Given the description of an element on the screen output the (x, y) to click on. 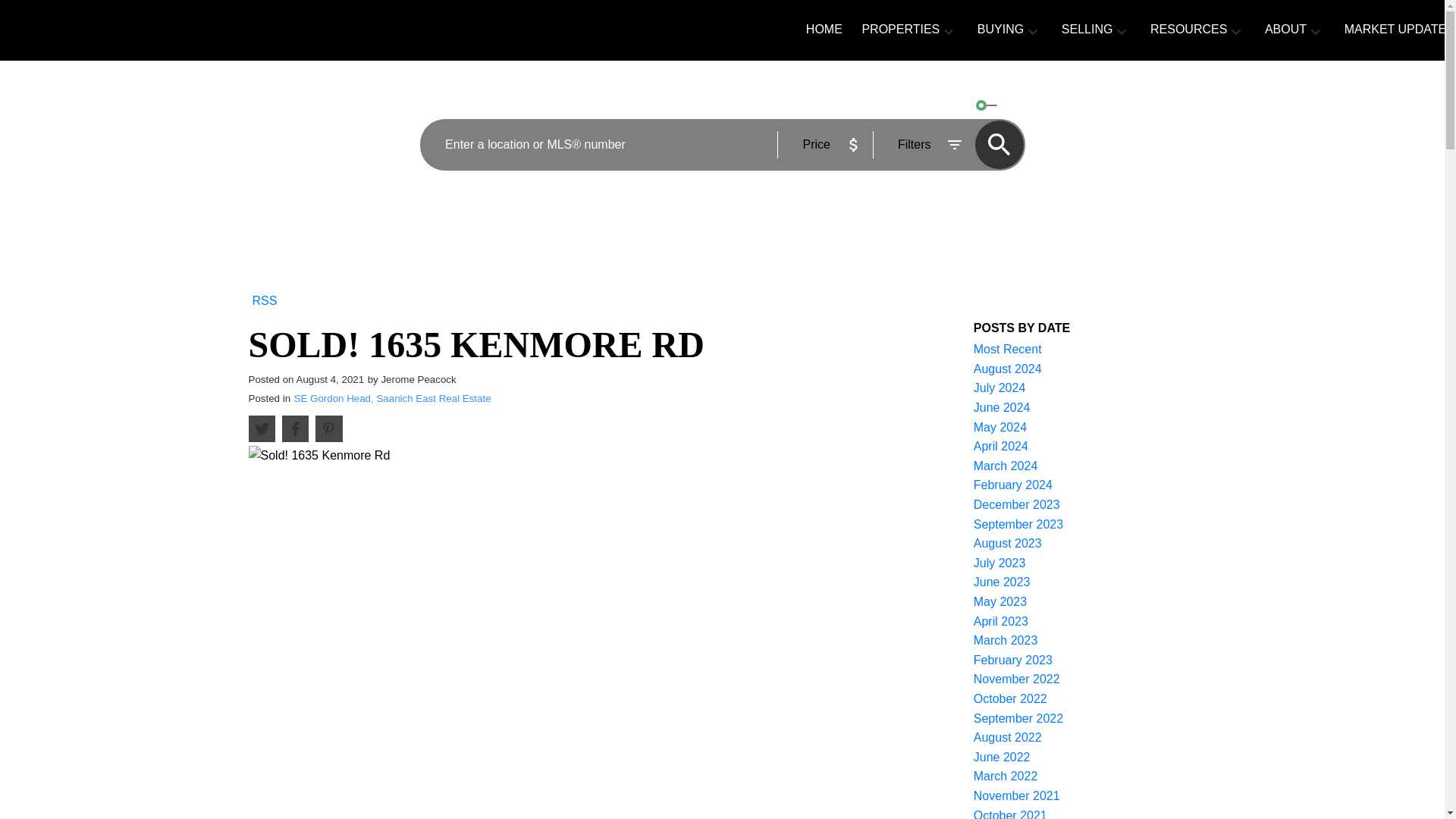
February 2024 (1013, 484)
July 2024 (1000, 387)
May 2024 (1000, 427)
HOME (824, 30)
April 2024 (1000, 445)
August 2024 (1008, 368)
September 2023 (1018, 523)
RSS (264, 299)
Most Recent (1008, 349)
August 2023 (1008, 543)
